Given the description of an element on the screen output the (x, y) to click on. 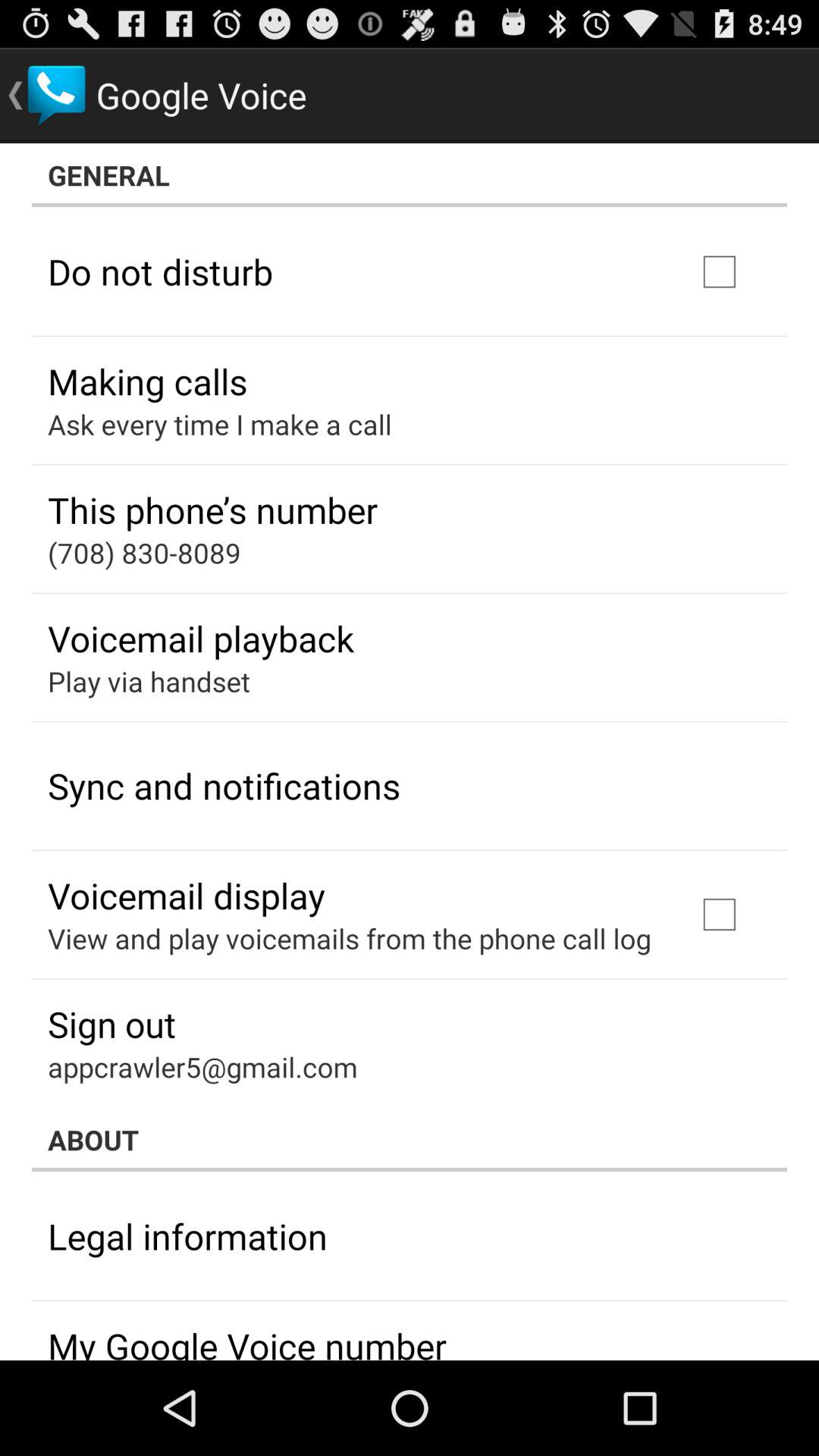
click item above (708) 830-8089 app (212, 509)
